Given the description of an element on the screen output the (x, y) to click on. 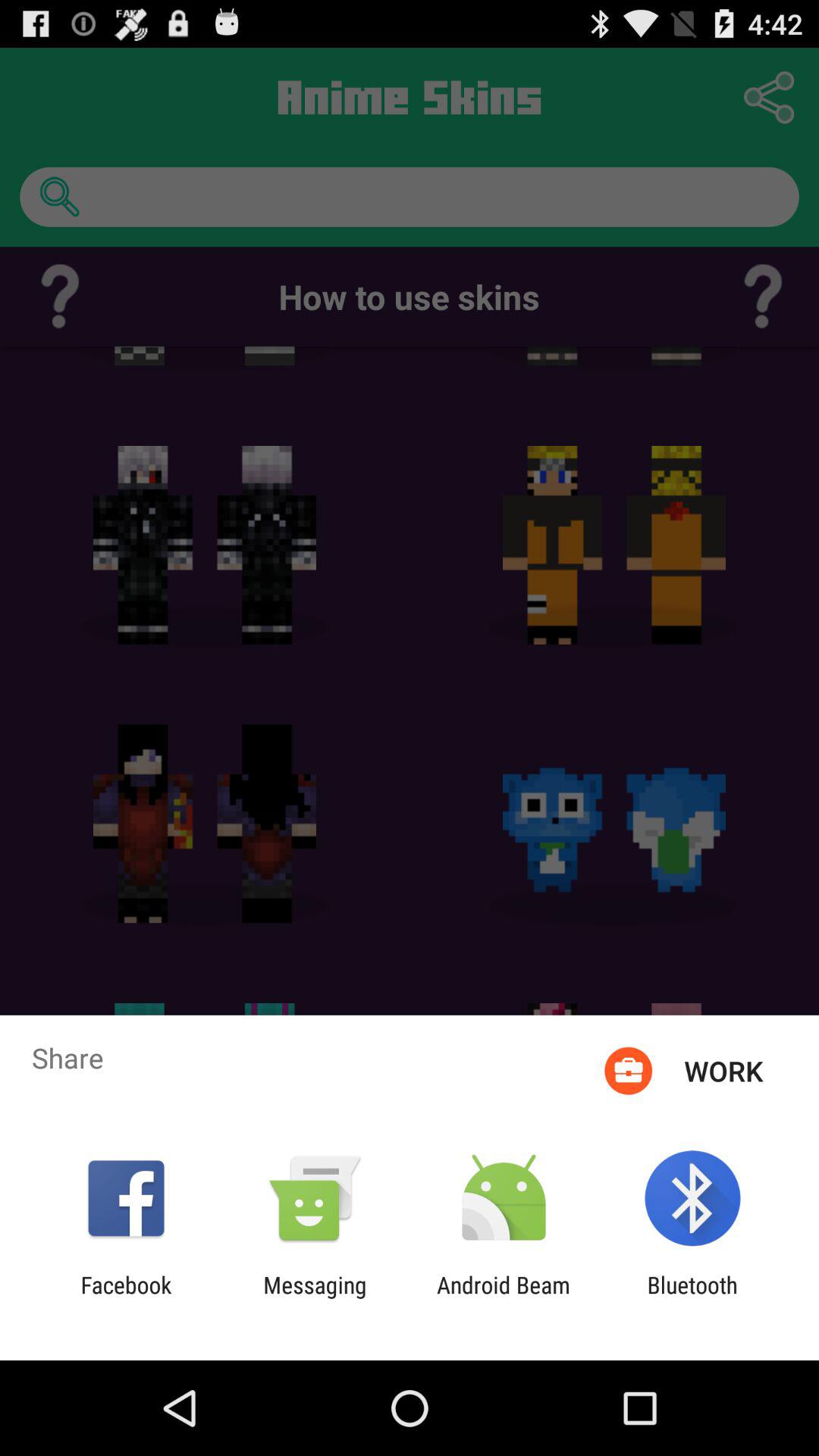
open facebook icon (125, 1298)
